Given the description of an element on the screen output the (x, y) to click on. 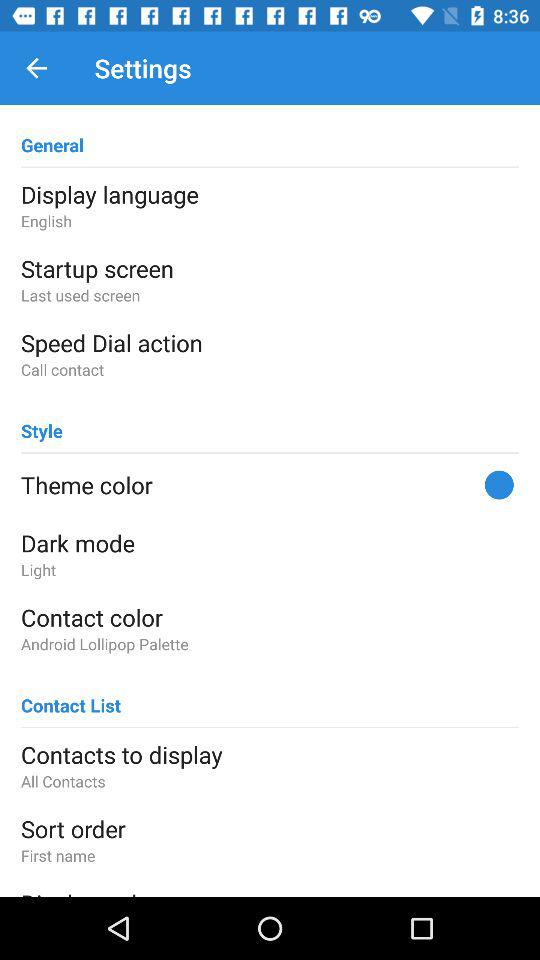
press item above general icon (36, 68)
